Given the description of an element on the screen output the (x, y) to click on. 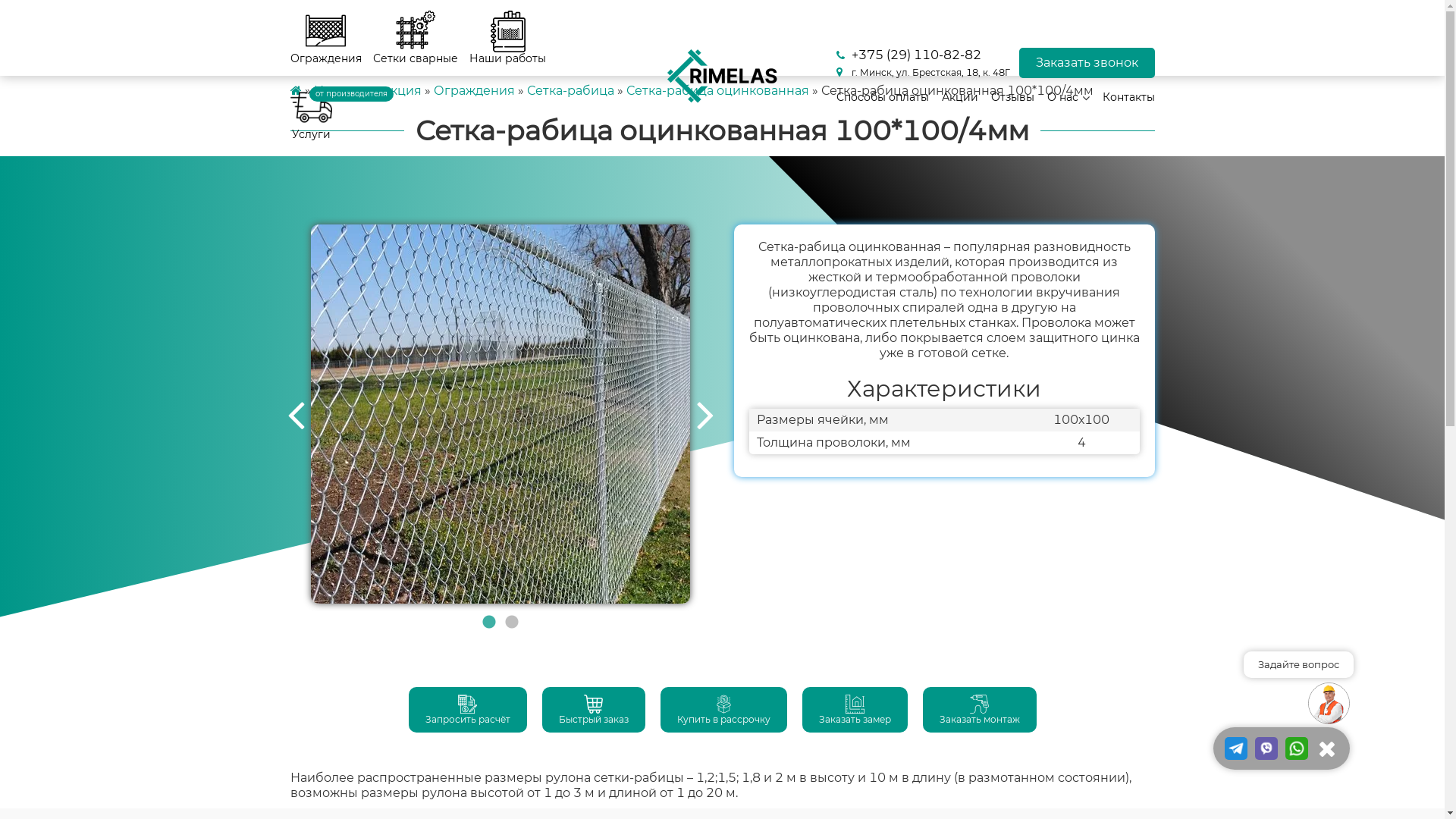
1 Element type: text (488, 622)
+375 (29) 110-82-82 Element type: text (922, 54)
2 Element type: text (511, 622)
